Given the description of an element on the screen output the (x, y) to click on. 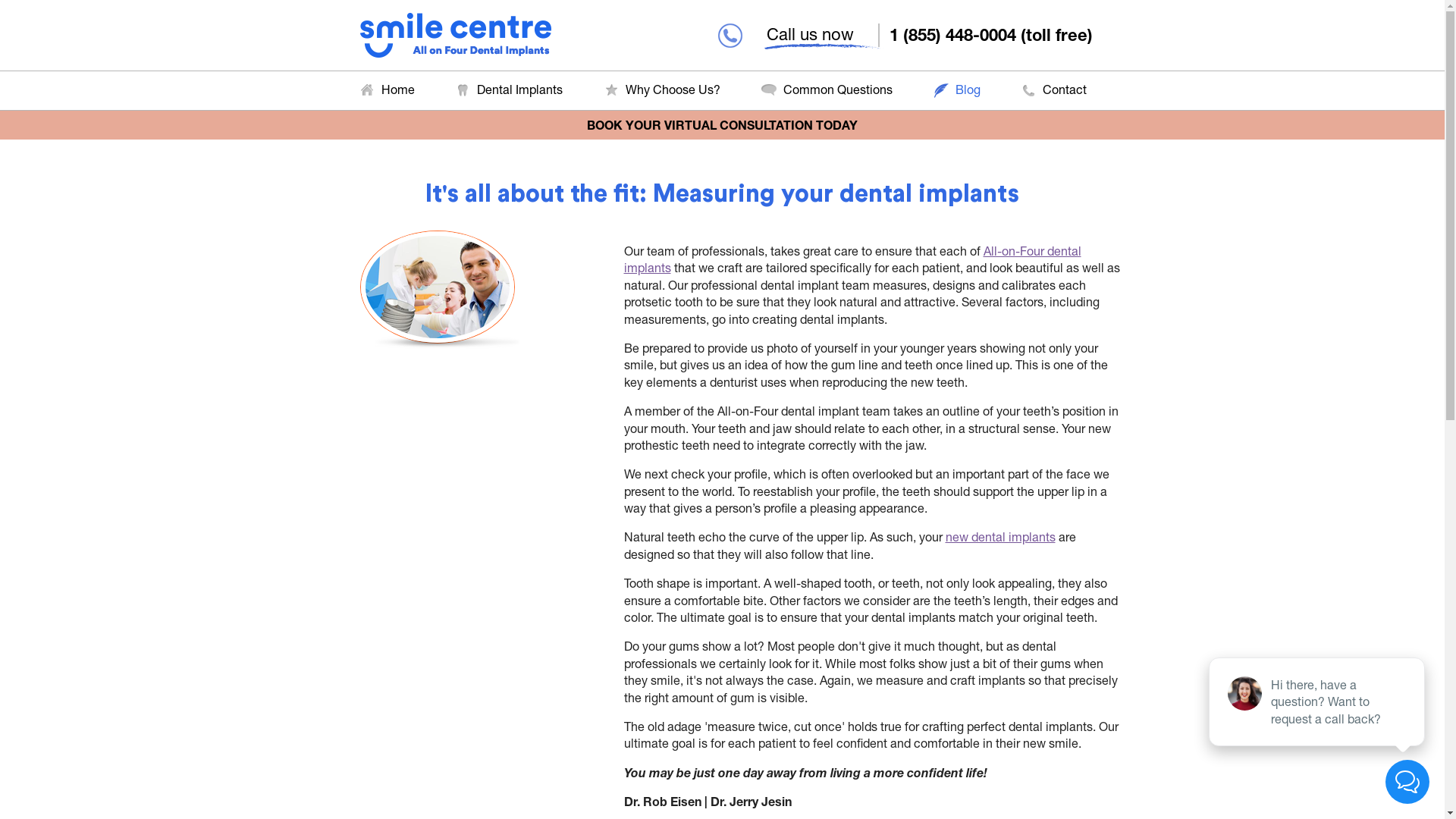
Contact Element type: text (1052, 88)
new dental implants Element type: text (999, 536)
Why Choose Us? Element type: text (661, 88)
1 (855) 448-0004 Element type: text (954, 34)
All-on-Four dental implants Element type: text (851, 258)
Blog Element type: text (955, 88)
Common Questions Element type: text (825, 88)
Dental Implants Element type: text (507, 88)
BOOK YOUR VIRTUAL CONSULTATION TODAY Element type: text (721, 124)
Home Element type: text (385, 88)
